Given the description of an element on the screen output the (x, y) to click on. 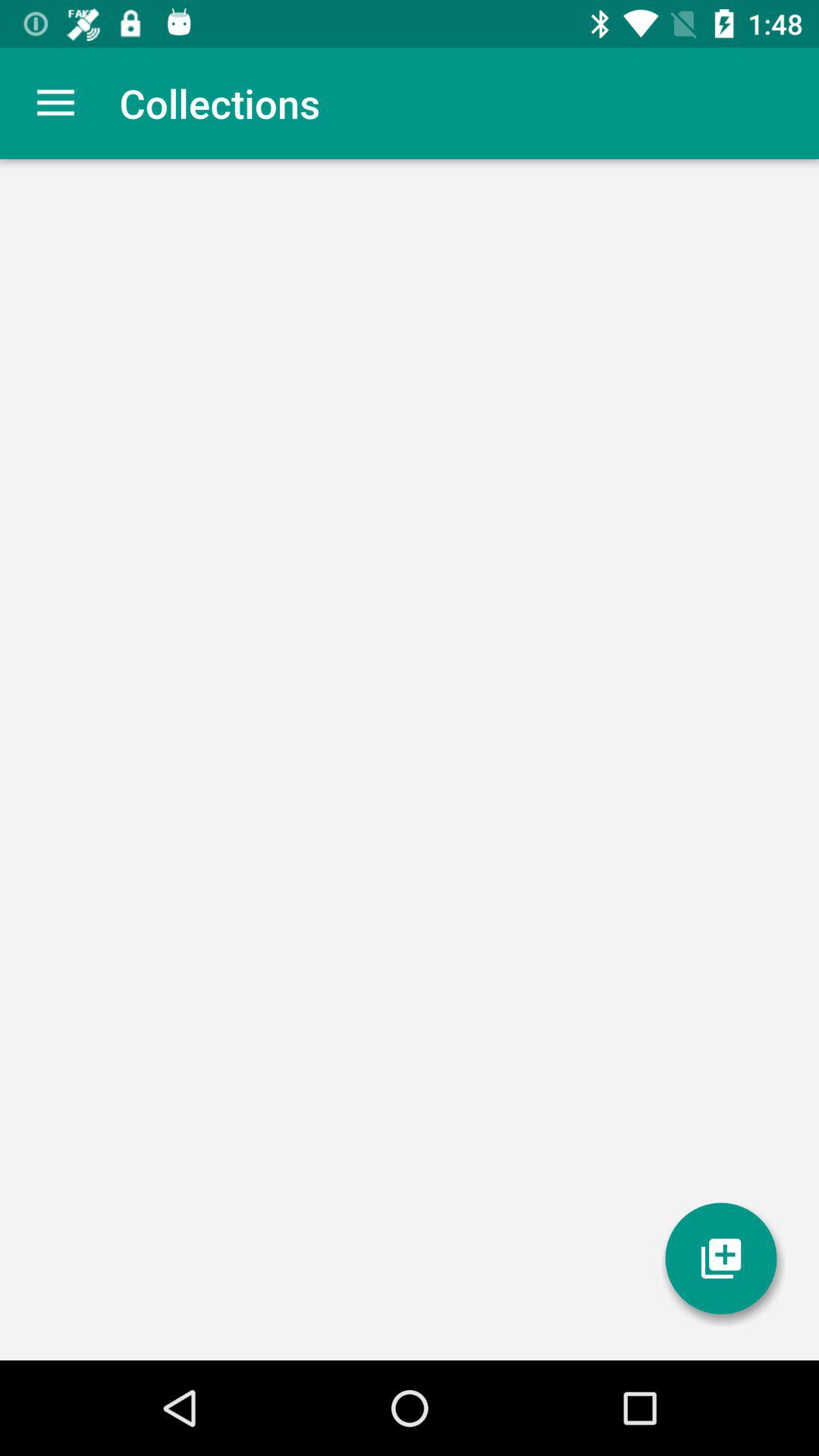
turn off the app to the left of the collections icon (55, 103)
